Given the description of an element on the screen output the (x, y) to click on. 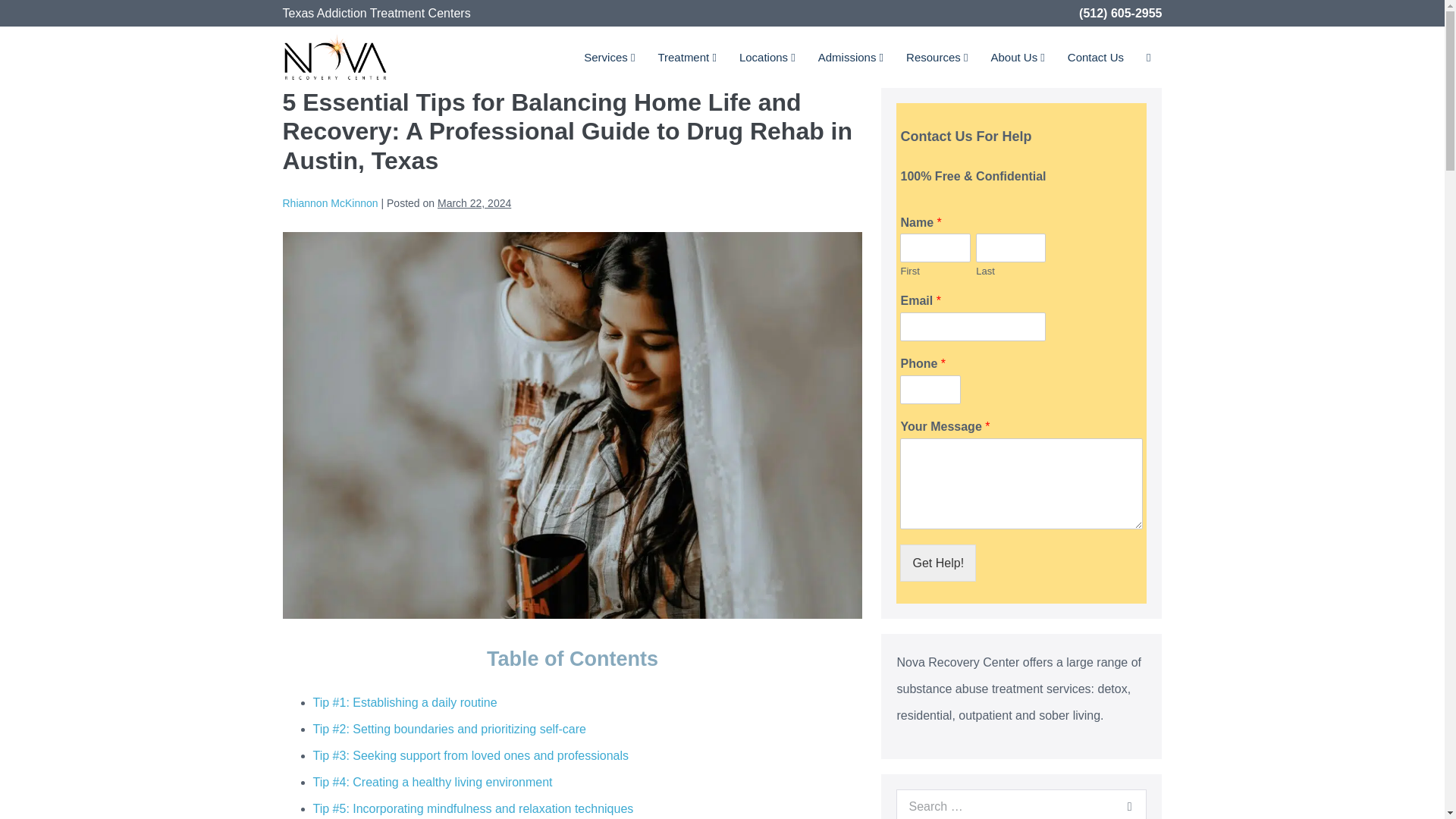
Services (609, 56)
Nova Recovery Center Near Austin Texas (335, 55)
Locations (767, 56)
Press enter to search (1021, 804)
Treatment (686, 56)
Admissions (850, 56)
View all posts by Rhiannon McKinnon (329, 203)
